Given the description of an element on the screen output the (x, y) to click on. 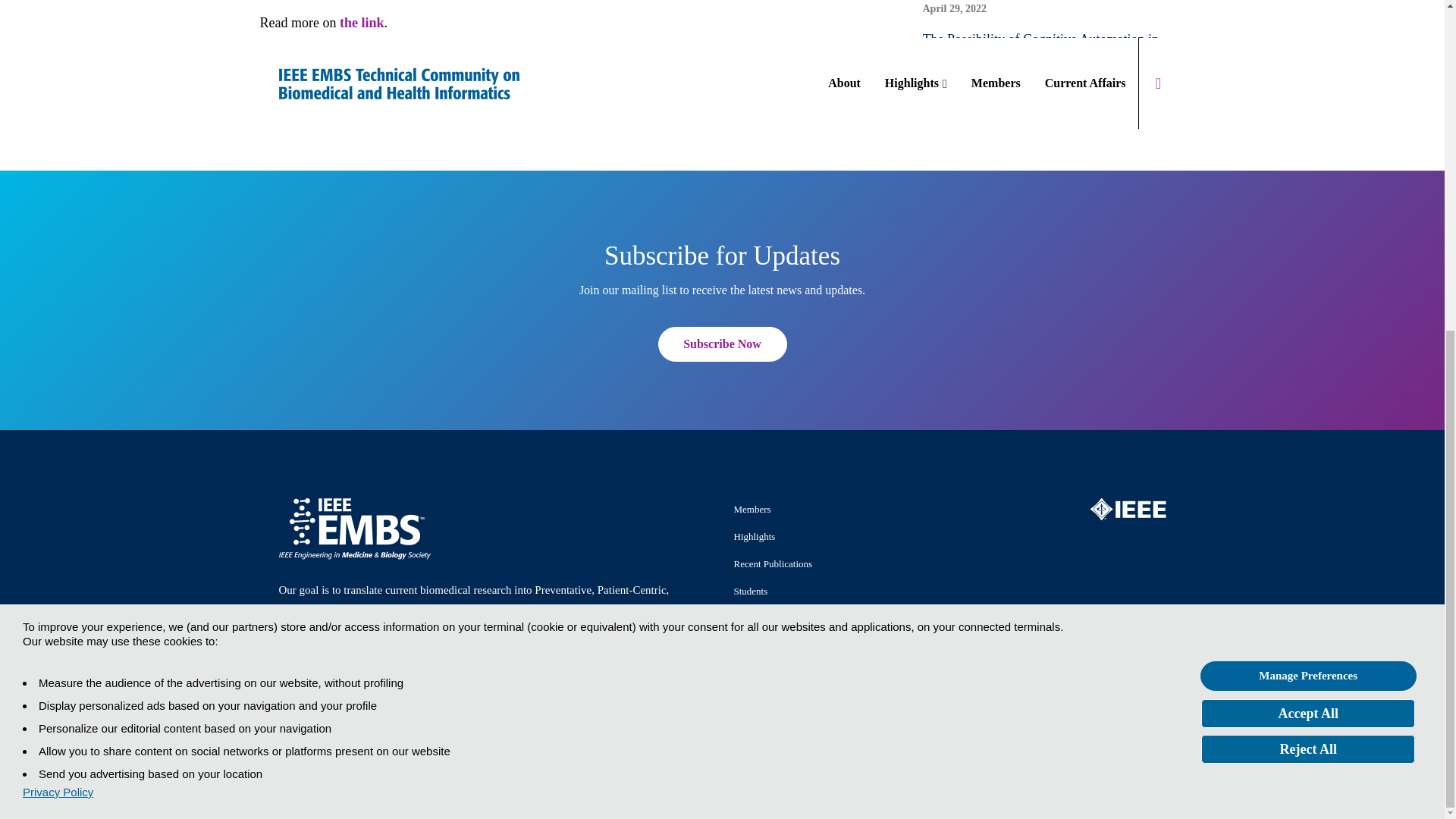
Privacy Policy (58, 245)
Accept All (1308, 165)
Recent Publications (772, 563)
The Possibility of Cognitive Automation in Medicine (1053, 48)
Subscribe Now (722, 343)
Manage Preferences (1307, 128)
Reject All (1308, 201)
Highlights (754, 536)
the link (361, 22)
Members (752, 509)
